Given the description of an element on the screen output the (x, y) to click on. 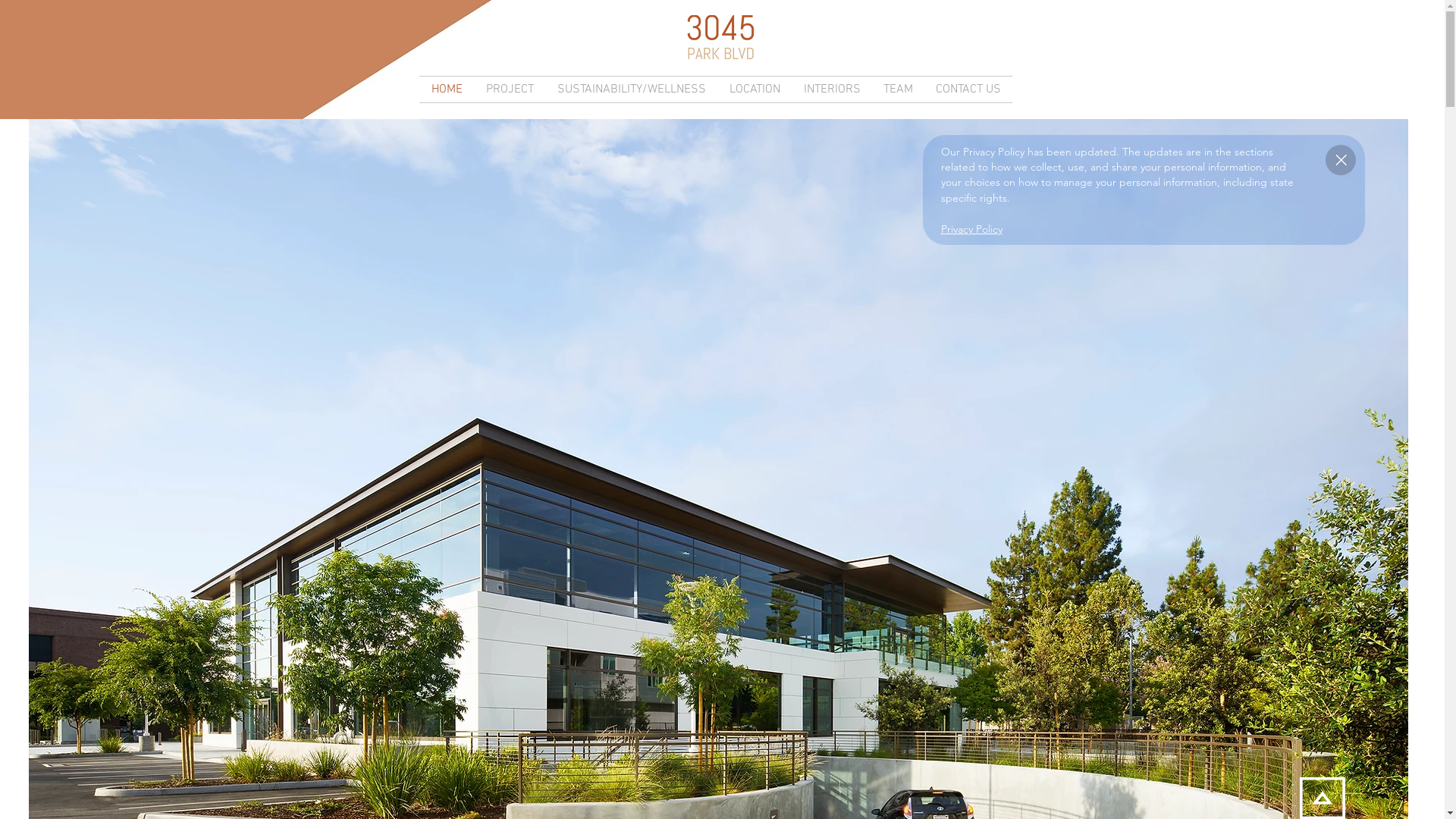
LOCATION Element type: text (754, 89)
PROJECT Element type: text (508, 89)
CONTACT US Element type: text (967, 89)
SUSTAINABILITY/WELLNESS Element type: text (630, 89)
TEAM Element type: text (898, 89)
Privacy Policy Element type: text (970, 229)
HOME Element type: text (445, 89)
INTERIORS Element type: text (831, 89)
